Given the description of an element on the screen output the (x, y) to click on. 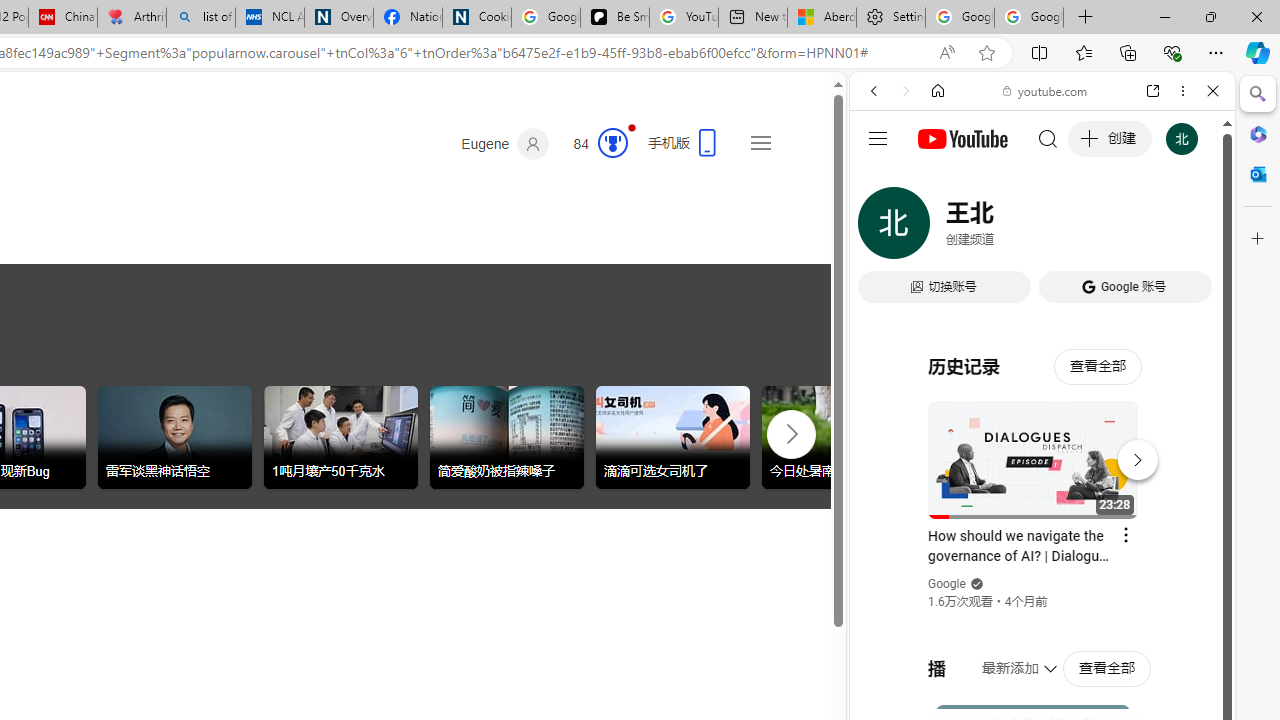
NCL Adult Asthma Inhaler Choice Guideline (269, 17)
Search the web (1051, 137)
#you (1042, 445)
Close Customize pane (1258, 239)
